Given the description of an element on the screen output the (x, y) to click on. 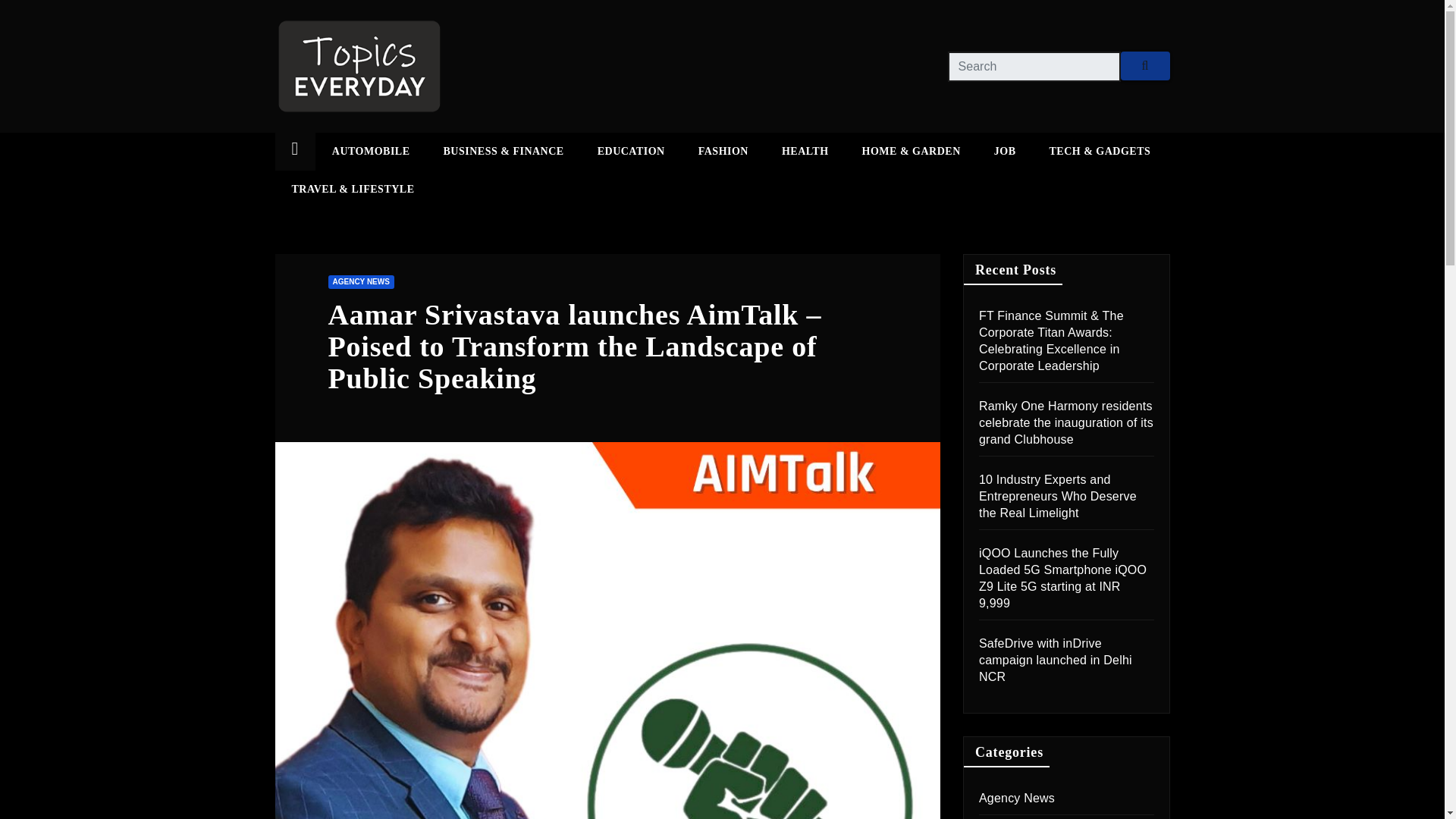
Health (805, 151)
AGENCY NEWS (360, 282)
SafeDrive with inDrive campaign launched in Delhi NCR (1055, 660)
Automobile (370, 151)
Fashion (723, 151)
EDUCATION (630, 151)
HEALTH (805, 151)
Agency News (1016, 797)
Education (630, 151)
JOB (1004, 151)
FASHION (723, 151)
Job (1004, 151)
